Given the description of an element on the screen output the (x, y) to click on. 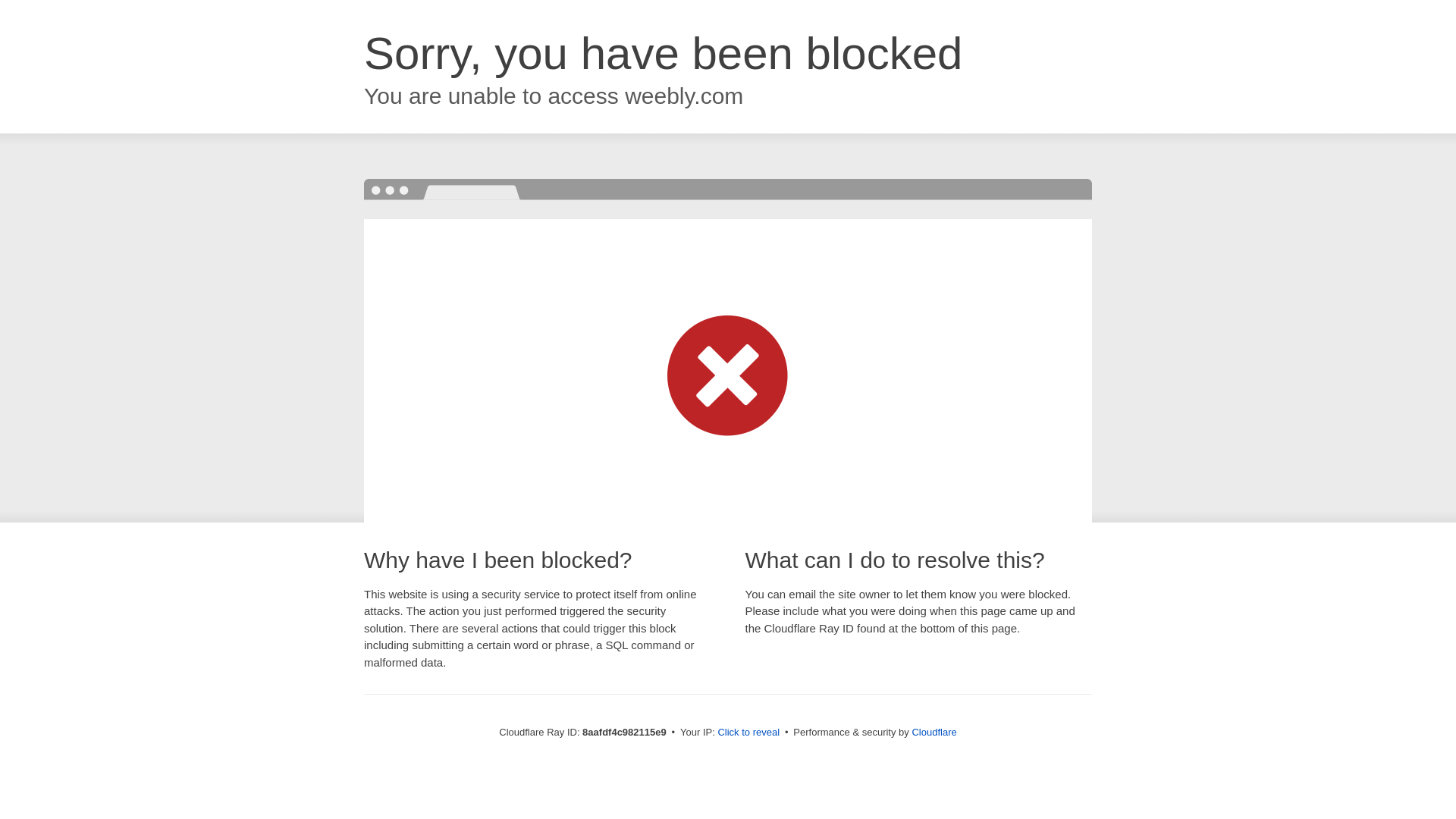
Click to reveal (747, 732)
Cloudflare (933, 731)
